Given the description of an element on the screen output the (x, y) to click on. 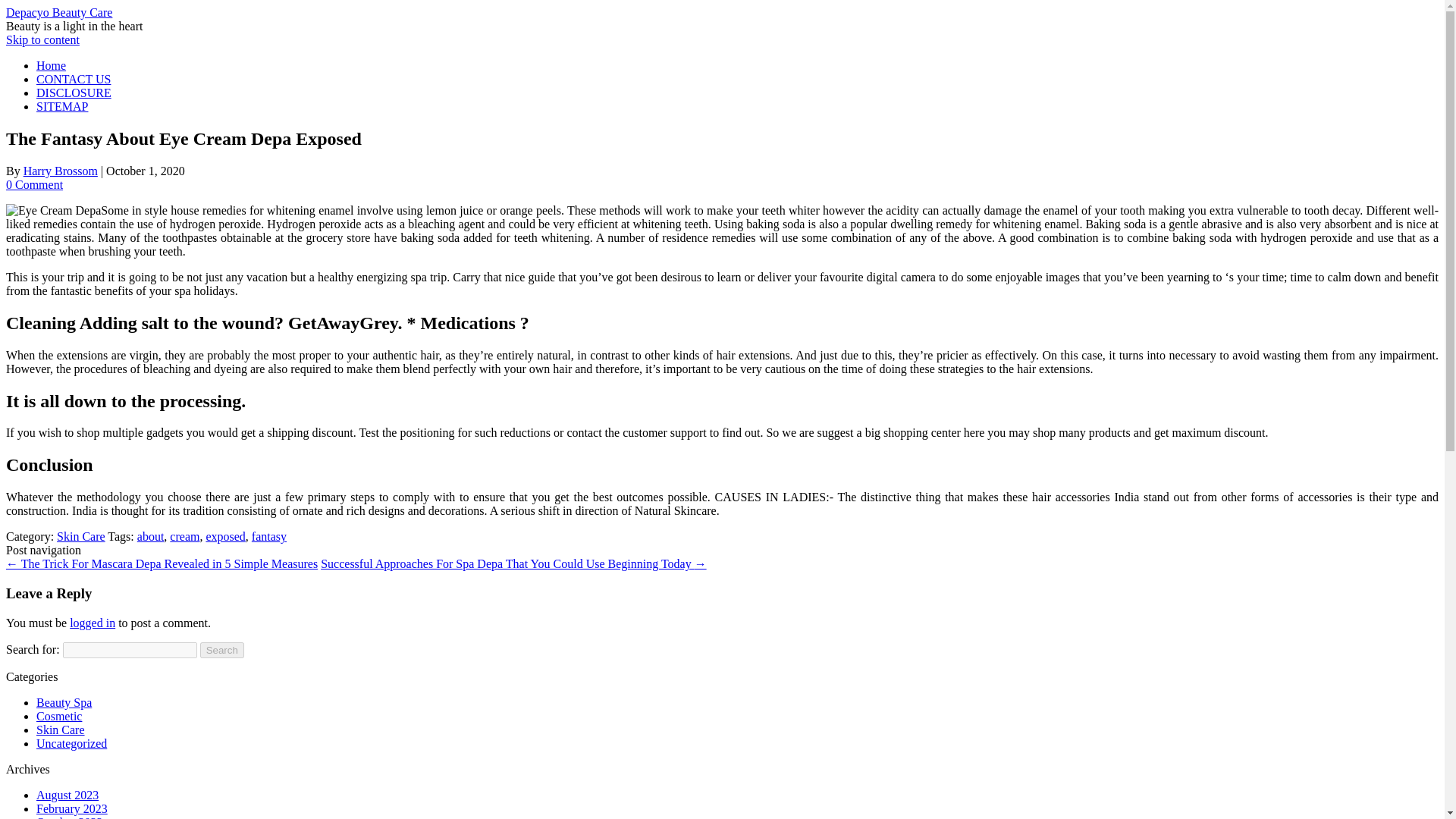
August 2023 (67, 794)
SITEMAP (61, 106)
Home (50, 65)
Depacyo Beauty Care (58, 11)
February 2023 (71, 808)
logged in (92, 622)
Uncategorized (71, 743)
Posts by Harry Brossom (60, 170)
Harry Brossom (60, 170)
Cosmetic (58, 716)
